Given the description of an element on the screen output the (x, y) to click on. 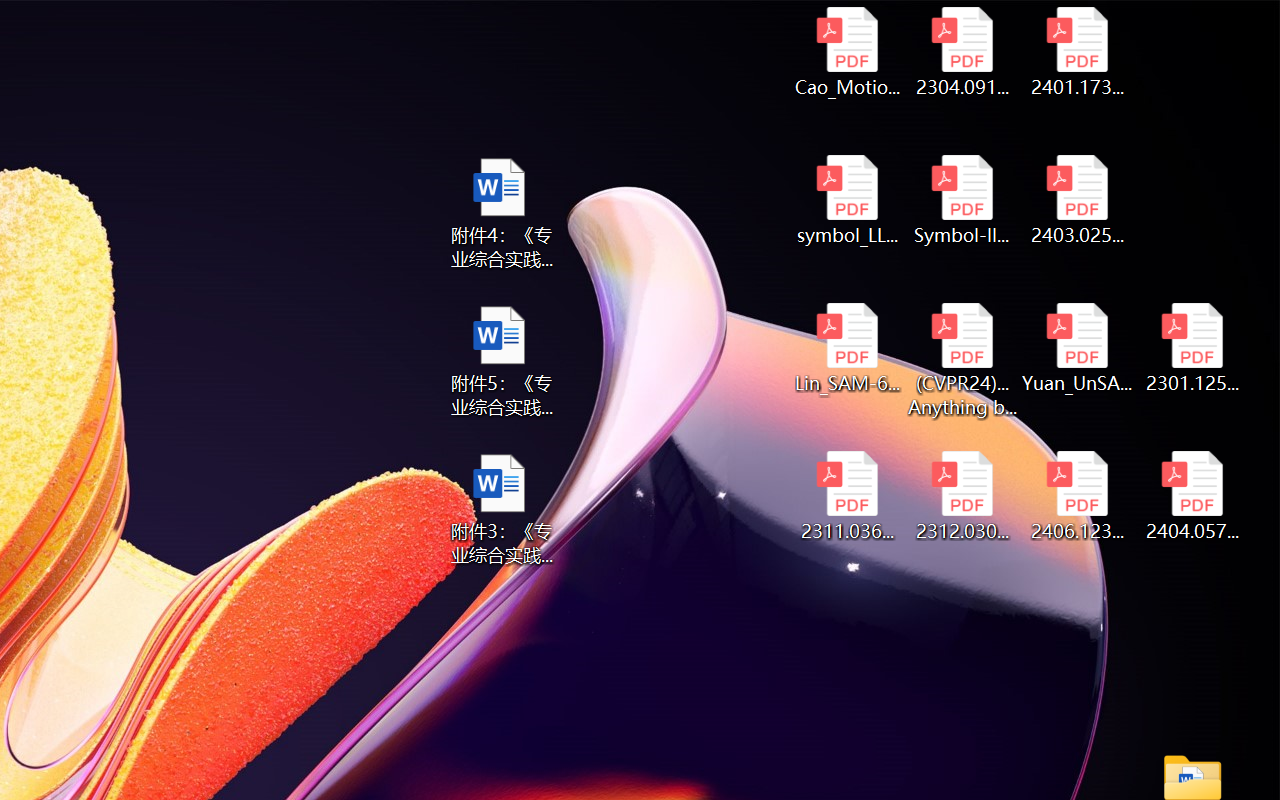
2311.03658v2.pdf (846, 496)
